Given the description of an element on the screen output the (x, y) to click on. 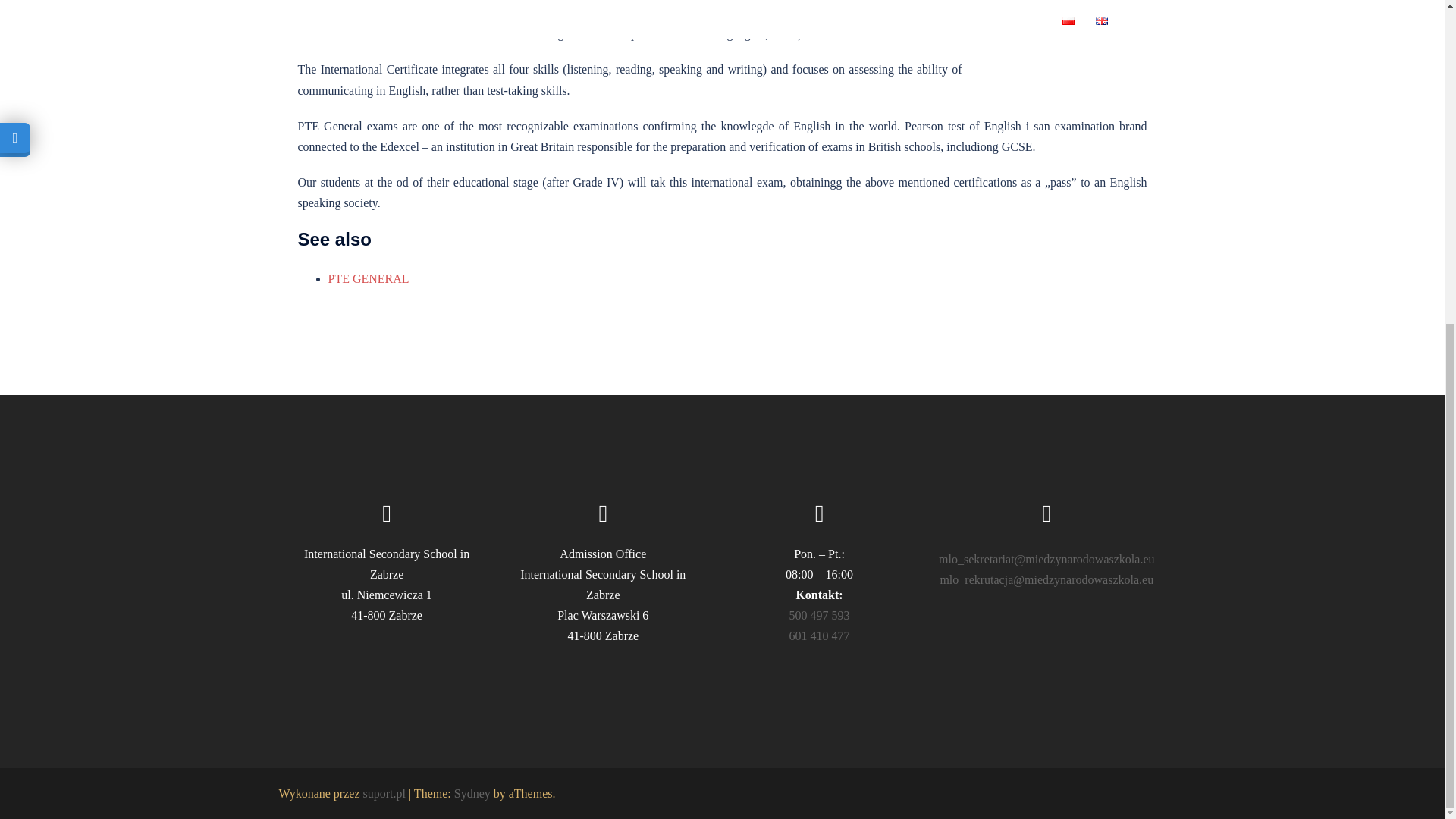
PTE GENERAL (368, 278)
500 497 593 (818, 615)
601 410 477 (818, 635)
